Given the description of an element on the screen output the (x, y) to click on. 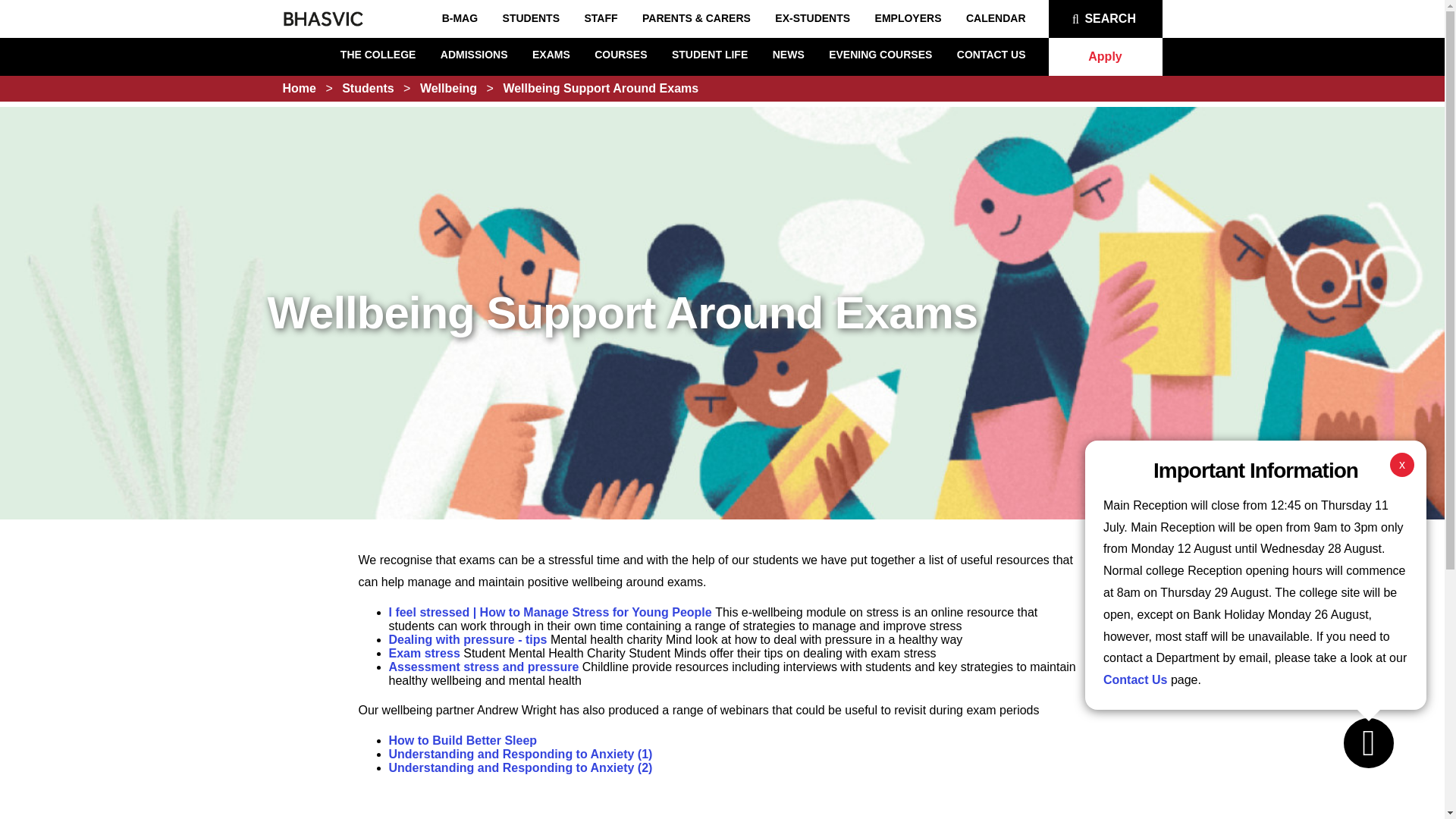
COURSES (620, 54)
ADMISSIONS (474, 54)
EXAMS (551, 54)
STUDENT LIFE (709, 54)
STAFF (600, 18)
EMPLOYERS (908, 18)
NEWS (789, 54)
EVENING COURSES (879, 54)
Apply (1104, 56)
B-MAG (458, 18)
SEARCH (1104, 18)
EX-STUDENTS (812, 18)
STUDENTS (531, 18)
THE COLLEGE (378, 54)
CONTACT US (991, 54)
